Given the description of an element on the screen output the (x, y) to click on. 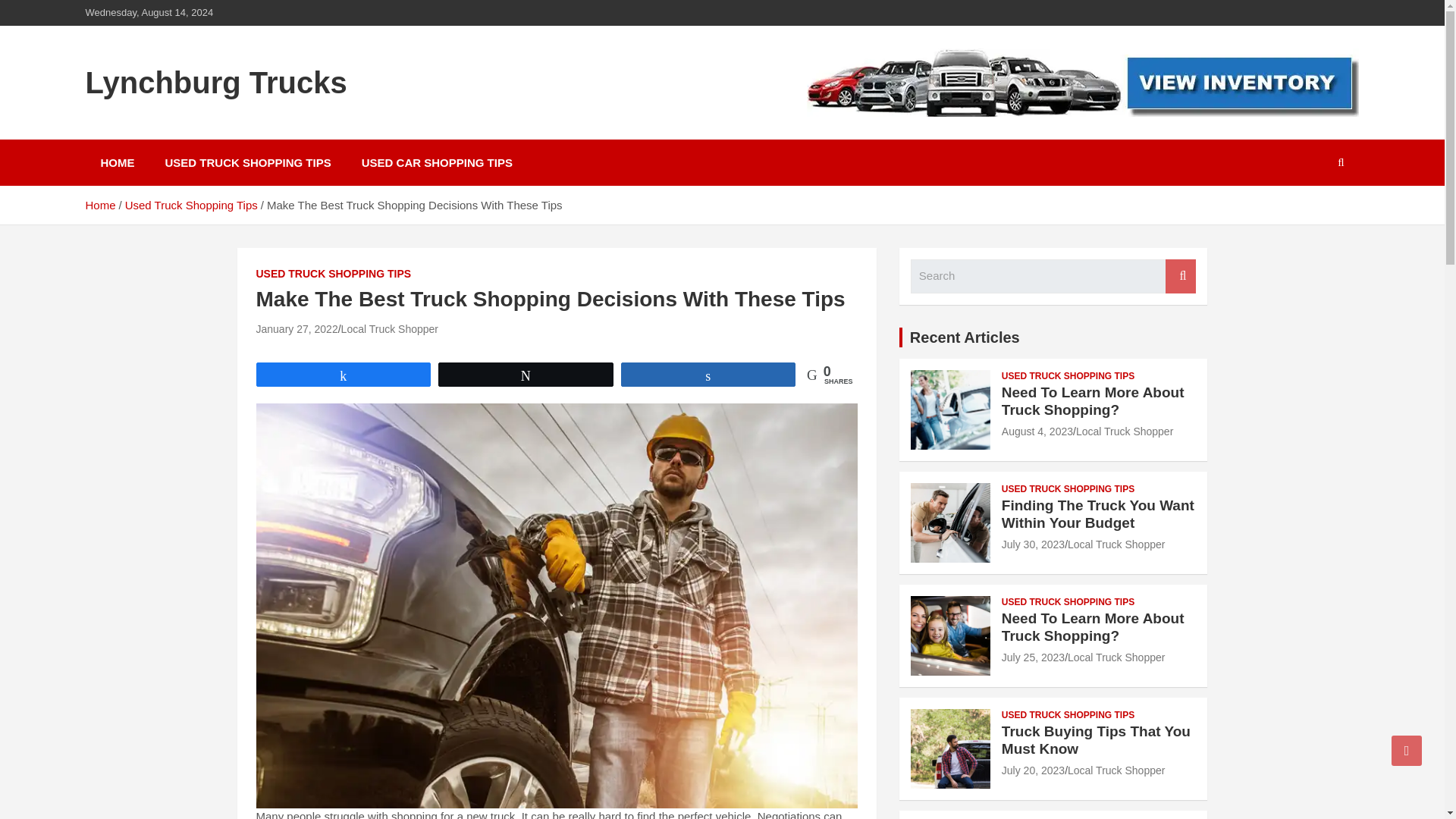
USED TRUCK SHOPPING TIPS (1067, 489)
Need To Learn More About Truck Shopping? (1032, 657)
Make The Best Truck Shopping Decisions With These Tips (296, 328)
HOME (116, 162)
USED CAR SHOPPING TIPS (436, 162)
USED TRUCK SHOPPING TIPS (247, 162)
August 4, 2023 (1037, 431)
January 27, 2022 (296, 328)
Search (1180, 276)
Used Truck Shopping Tips (191, 205)
